Given the description of an element on the screen output the (x, y) to click on. 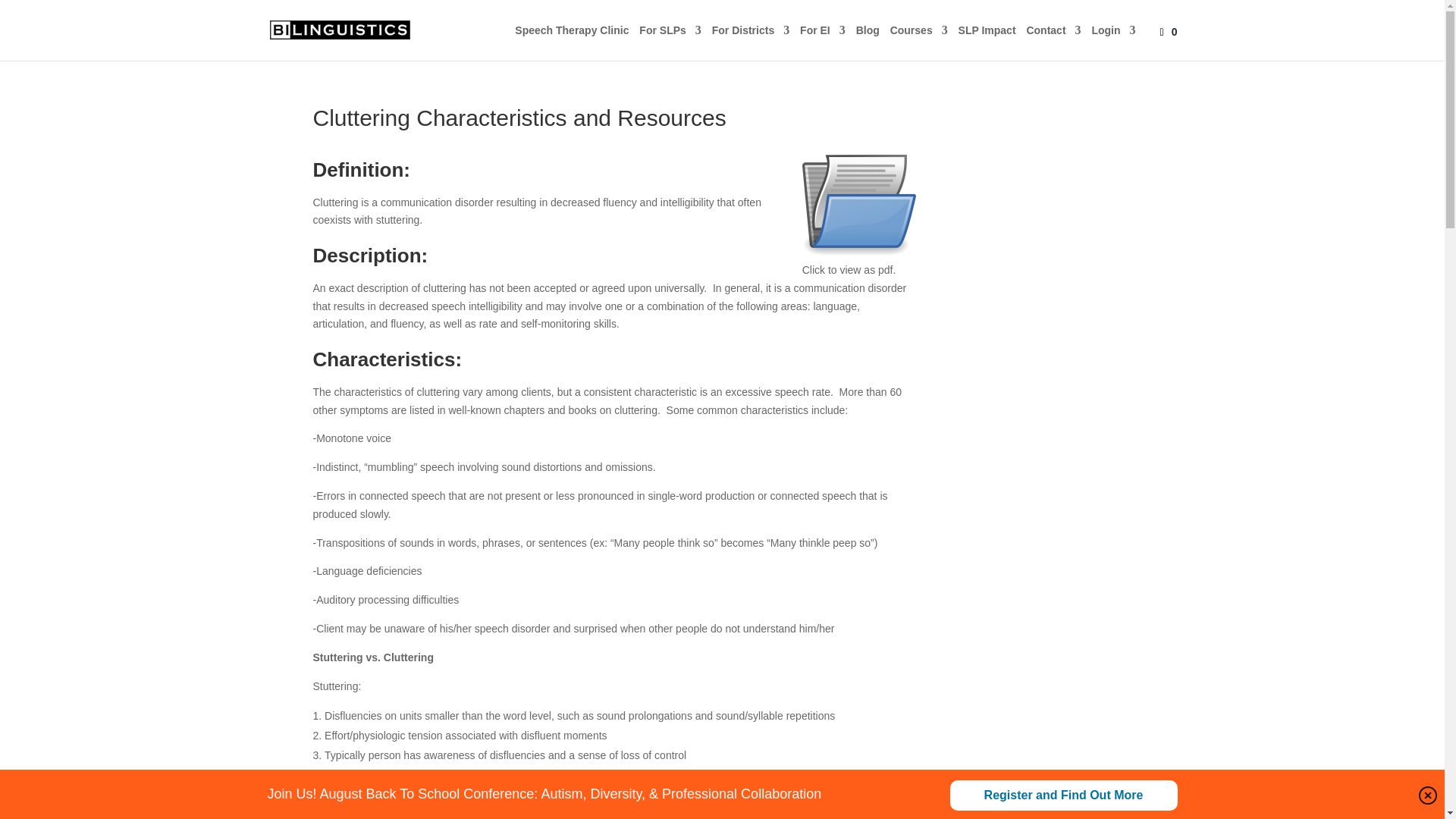
For Districts (750, 42)
For SLPs (669, 42)
For EI (822, 42)
Speech Therapy Clinic (571, 42)
Courses (918, 42)
